Given the description of an element on the screen output the (x, y) to click on. 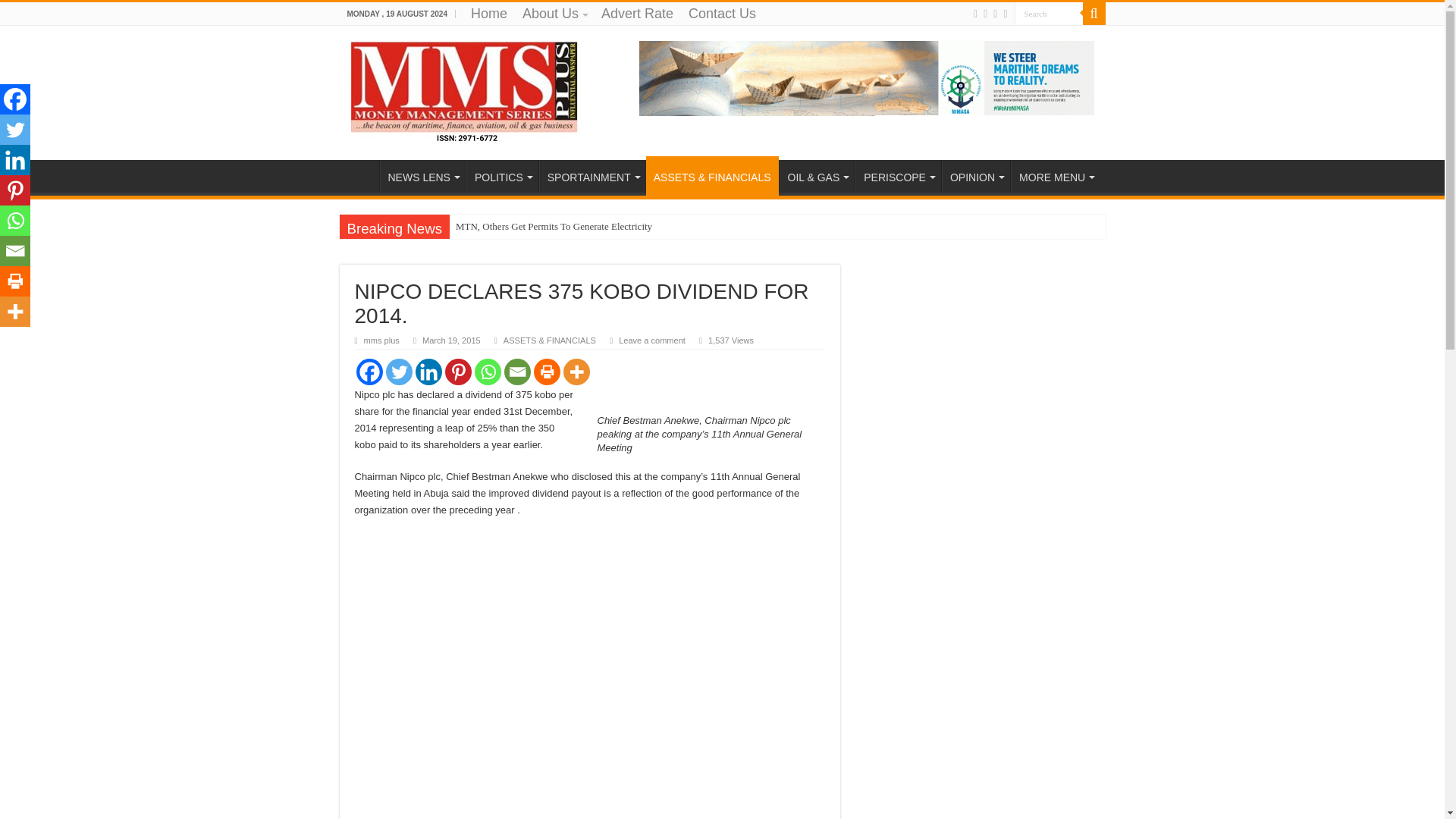
Home (489, 13)
Search (1048, 13)
Search (1094, 13)
SPORTAINMENT (592, 175)
About Us (554, 13)
Search (1048, 13)
HOME (358, 175)
HOME (358, 175)
Advert Rate (637, 13)
NEWS LENS (421, 175)
